Given the description of an element on the screen output the (x, y) to click on. 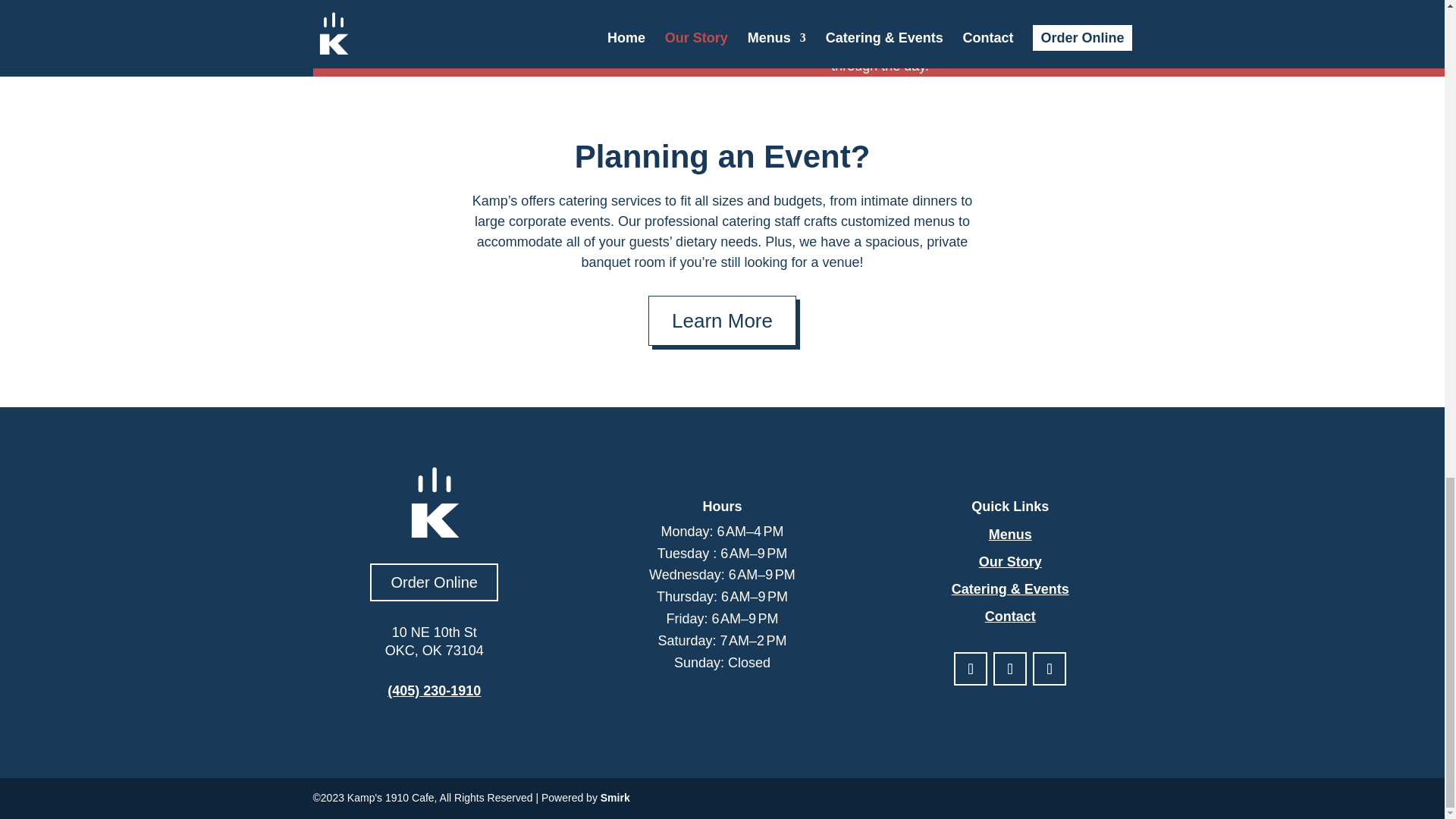
Smirk (614, 797)
Our Story (1010, 561)
Contact (1010, 616)
Learn More (721, 320)
Follow on Twitter (1048, 668)
Order Online (433, 582)
Follow on Instagram (1009, 668)
Menus (1010, 534)
Kamp's 1910 Cafe (354, 45)
Follow on Facebook (970, 668)
